Given the description of an element on the screen output the (x, y) to click on. 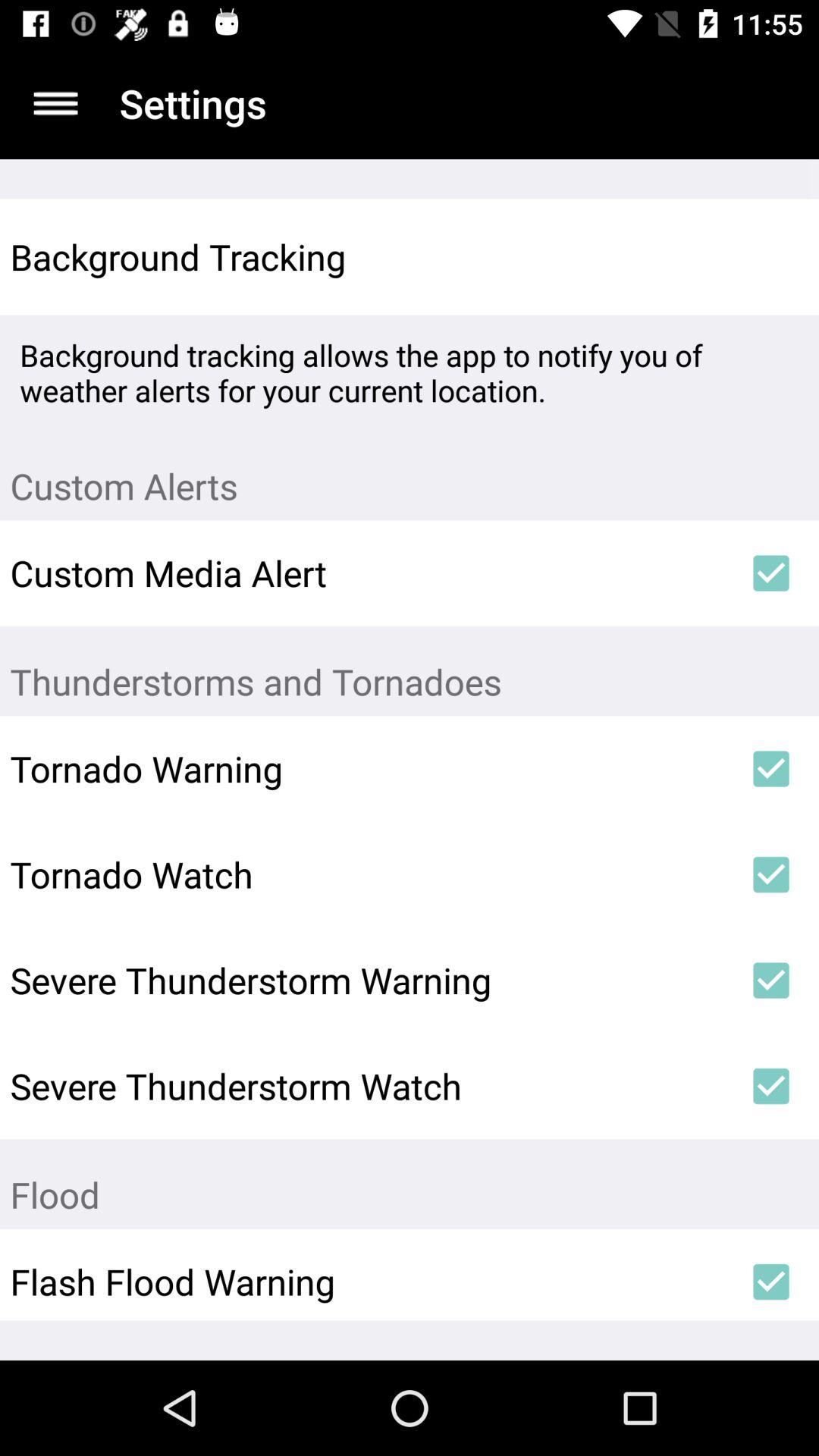
open item to the right of the flash flood warning icon (771, 1281)
